Given the description of an element on the screen output the (x, y) to click on. 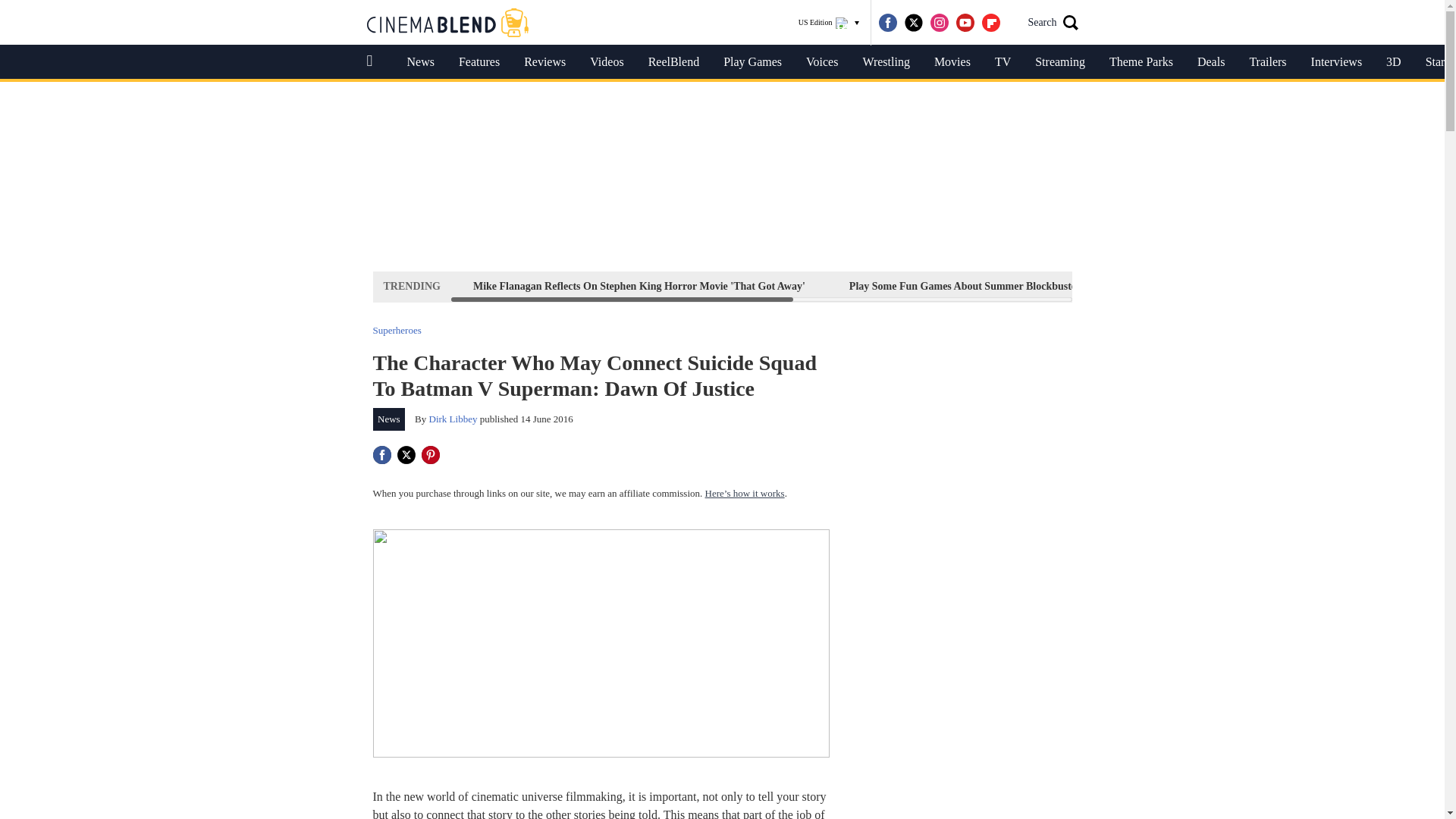
Movies (951, 61)
Upcoming Marvel Movies (1336, 286)
Interviews (1336, 61)
Play Some Fun Games About Summer Blockbusters (967, 286)
Superheroes (397, 329)
Streaming (1060, 61)
ReelBlend (673, 61)
Features (479, 61)
Wrestling (885, 61)
2024 Upcoming Movies (1182, 286)
